Given the description of an element on the screen output the (x, y) to click on. 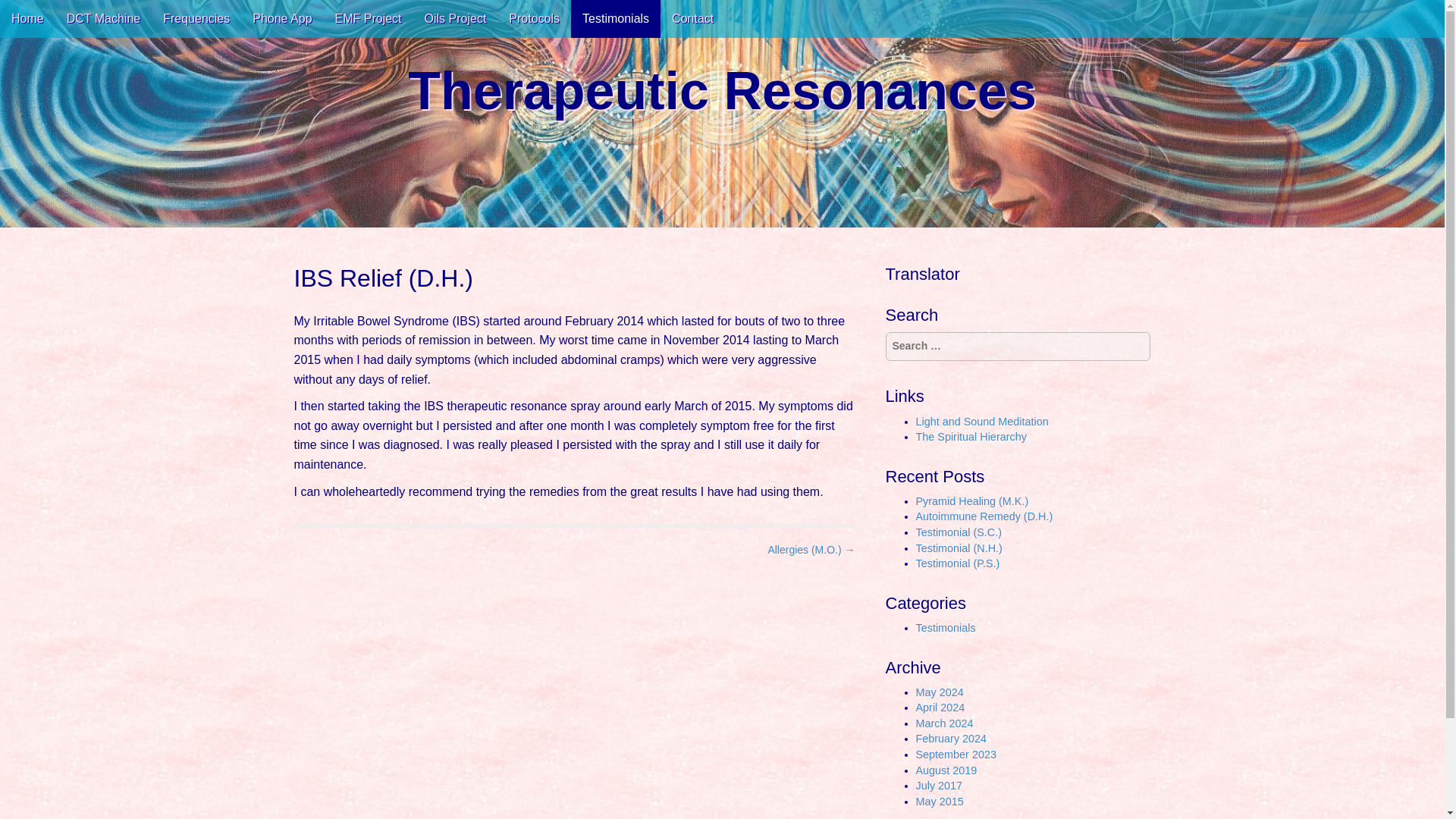
April 2024 (940, 707)
The Spiritual Hierarchy (970, 436)
February 2024 (951, 738)
May 2015 (939, 801)
DCT Machine (103, 18)
July 2017 (938, 785)
Testimonials (945, 627)
Phone App (282, 18)
May 2024 (939, 692)
Contact (693, 18)
March 2024 (944, 723)
Testimonials (615, 18)
August 2019 (945, 770)
Home (27, 18)
EMF Project (368, 18)
